Given the description of an element on the screen output the (x, y) to click on. 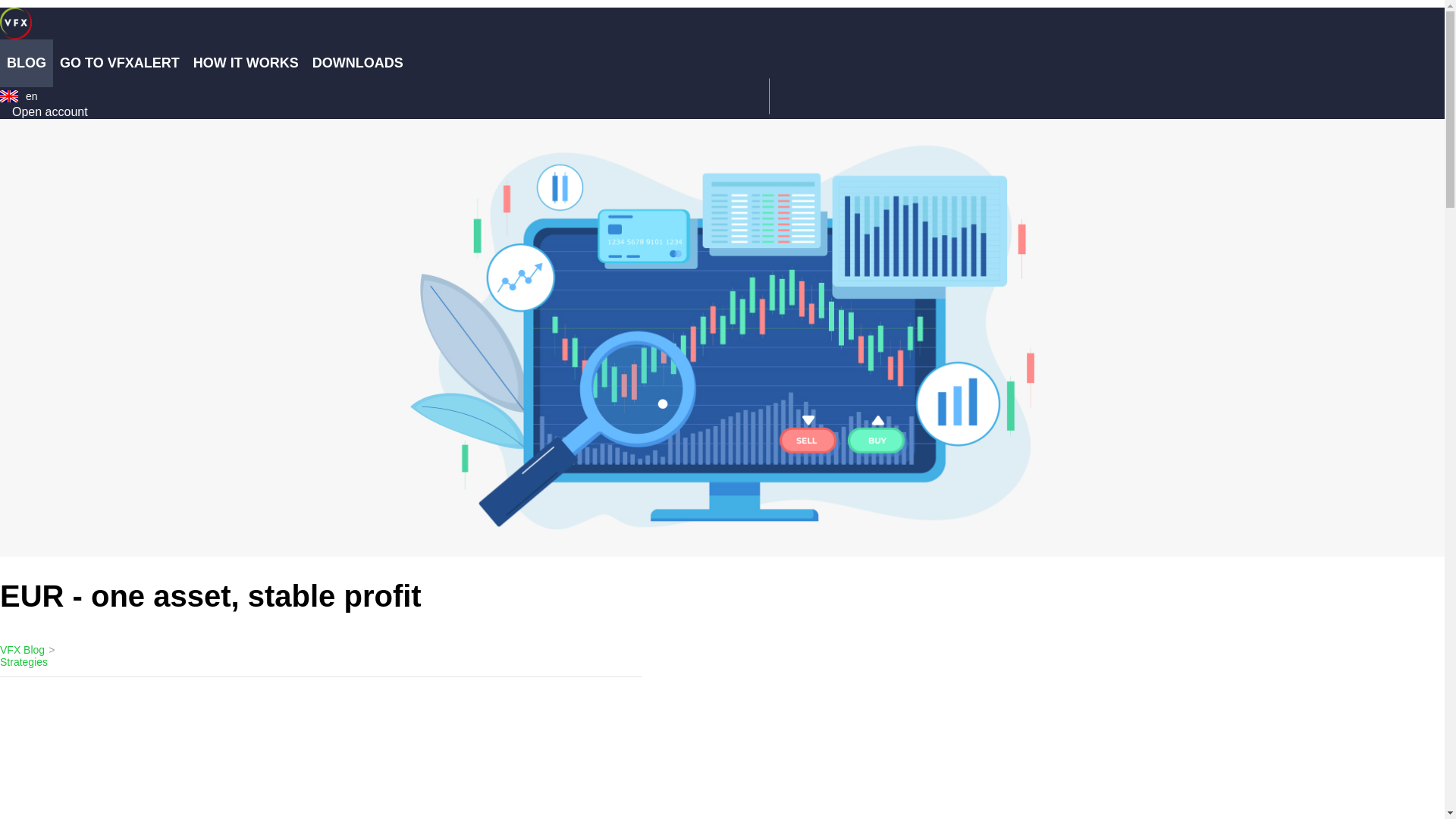
DOWNLOADS (357, 62)
BLOG (26, 62)
HOW IT WORKS (245, 62)
en (18, 95)
GO TO VFXALERT (119, 62)
vfxAlert official blog (16, 23)
